Given the description of an element on the screen output the (x, y) to click on. 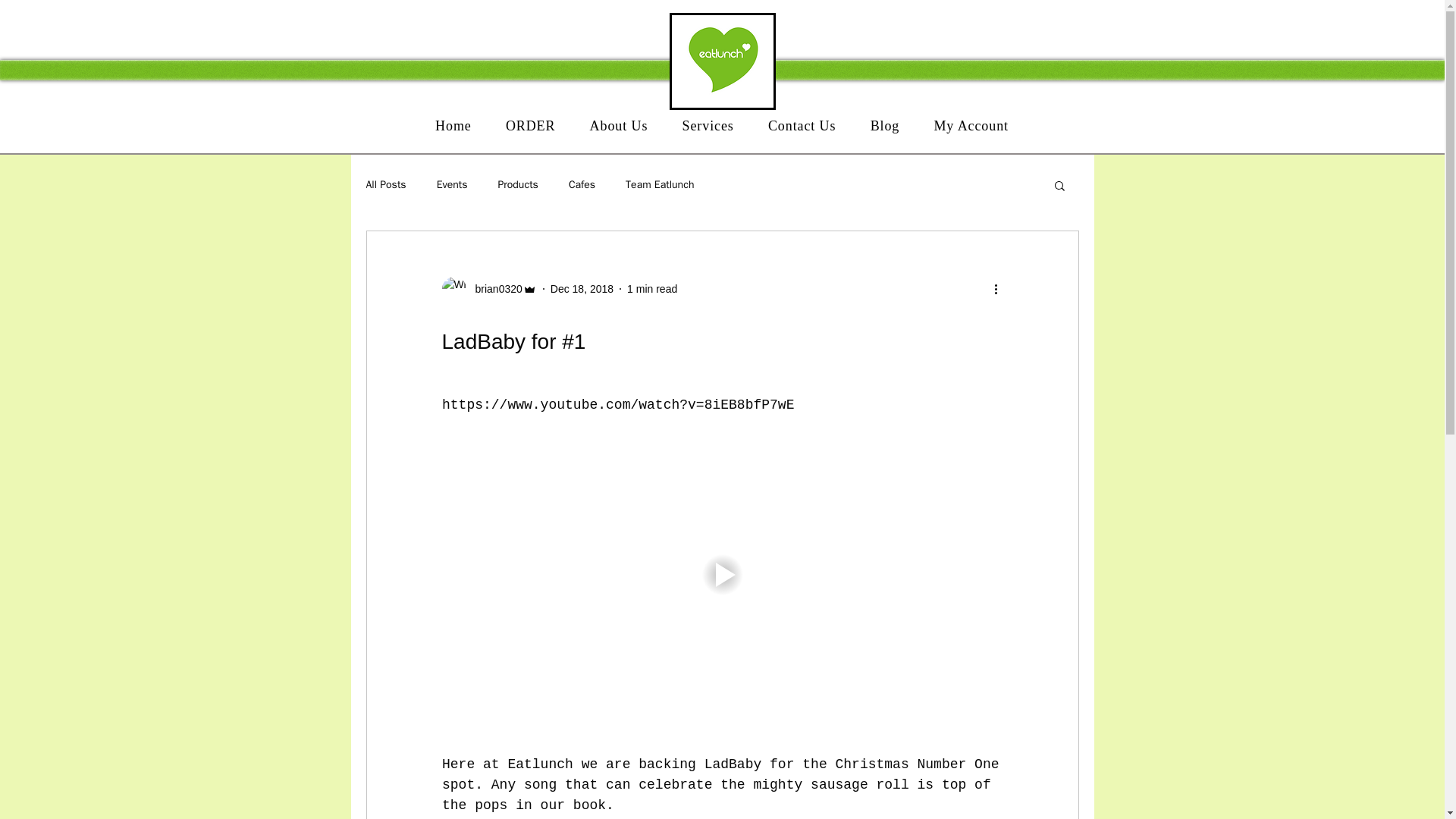
All Posts (385, 184)
ORDER (530, 125)
My Account (971, 125)
brian0320 (493, 288)
1 min read (652, 287)
Events (451, 184)
Home (454, 125)
Contact Us (802, 125)
About Us (618, 125)
brian0320 (488, 288)
